Given the description of an element on the screen output the (x, y) to click on. 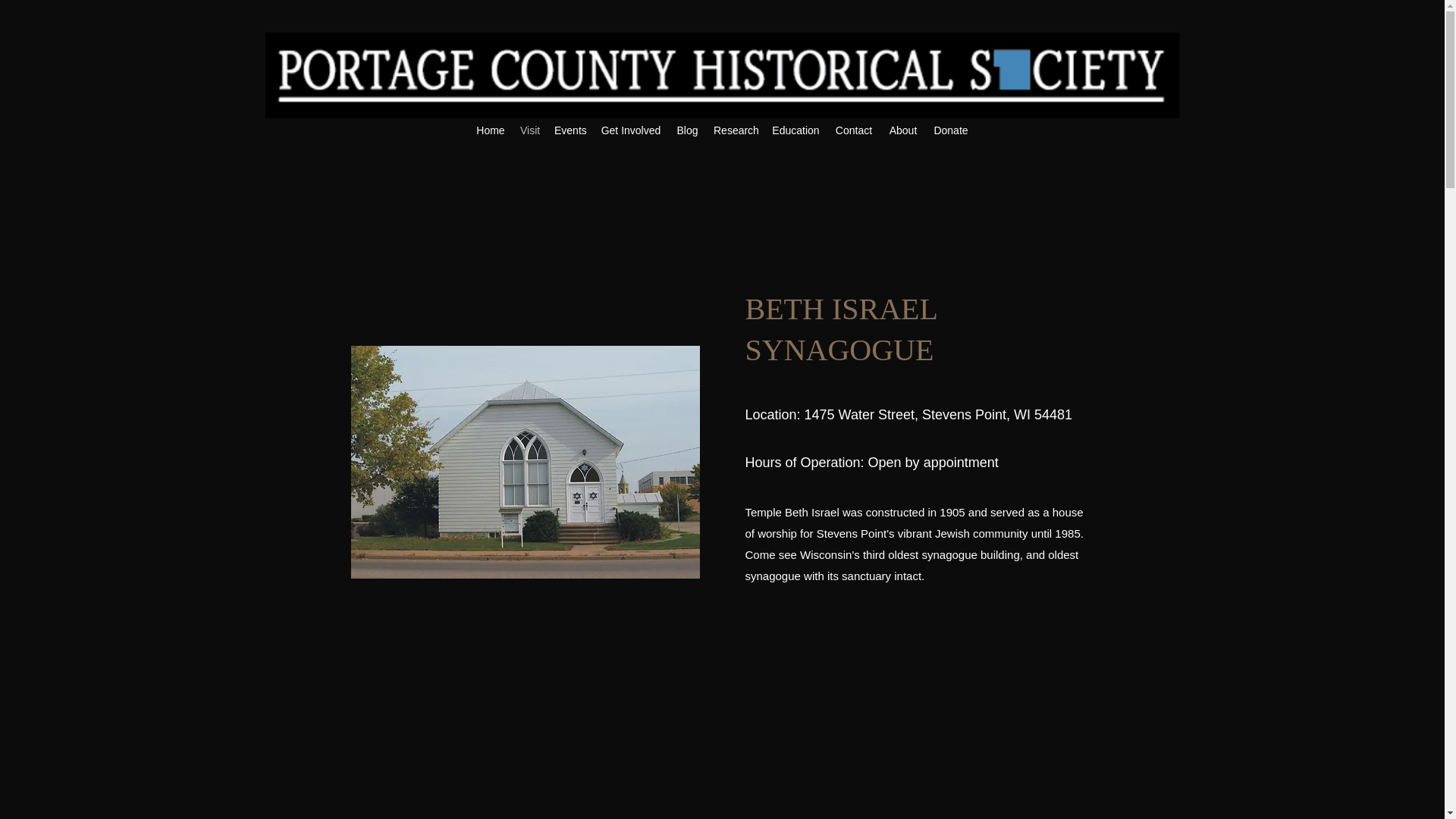
Home (490, 130)
Get Involved (630, 130)
Events (569, 130)
About (903, 130)
Visit (529, 130)
Education (795, 130)
Research (735, 130)
Donate (950, 130)
Contact (853, 130)
Blog (687, 130)
